Given the description of an element on the screen output the (x, y) to click on. 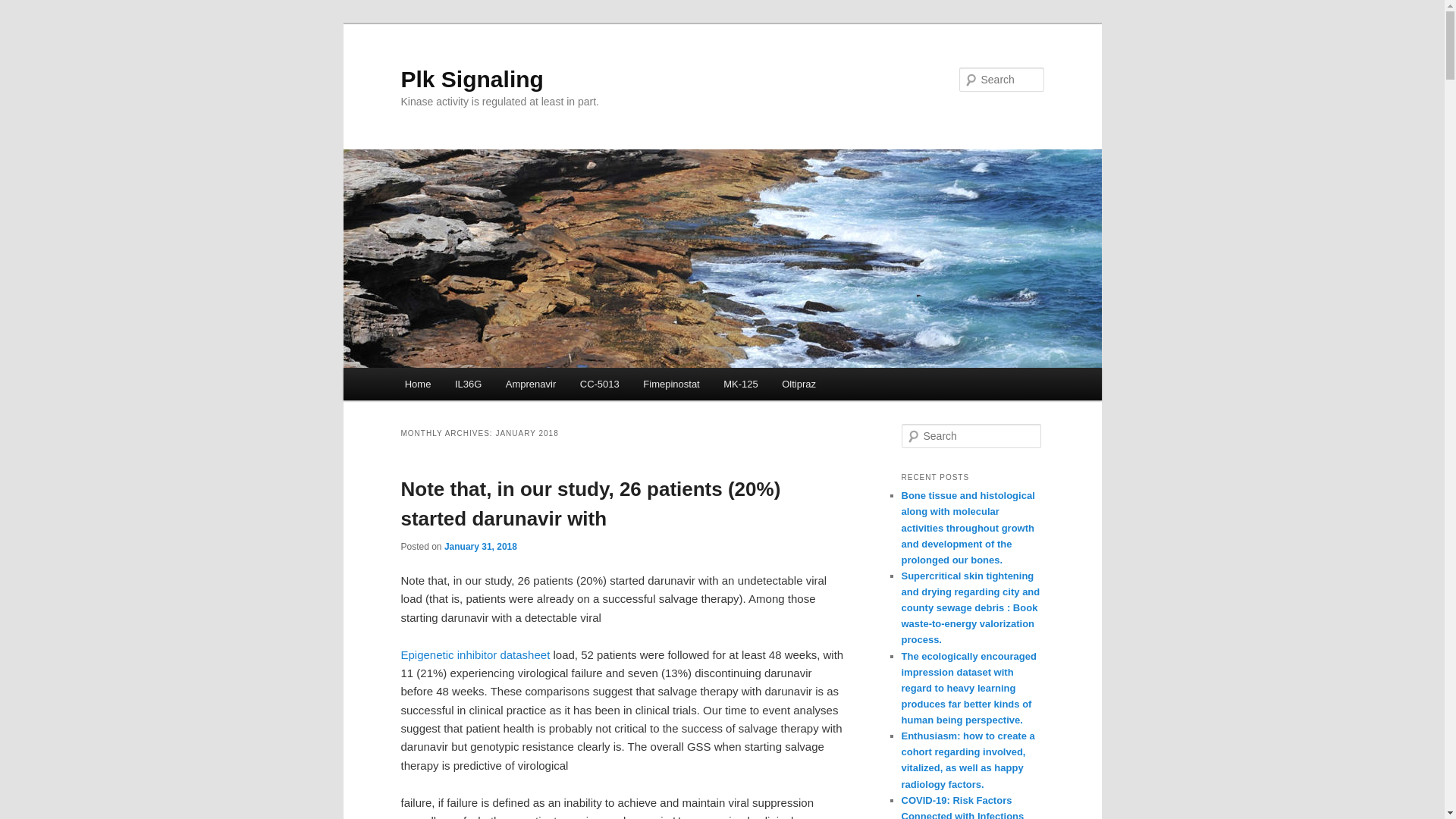
Skip to secondary content (479, 386)
CC-5013 (599, 383)
Skip to primary content (472, 386)
Home (417, 383)
Fimepinostat (671, 383)
Skip to primary content (472, 386)
10:51 am (480, 546)
MK-125 (740, 383)
IL36G (467, 383)
Plk Signaling (471, 78)
